Given the description of an element on the screen output the (x, y) to click on. 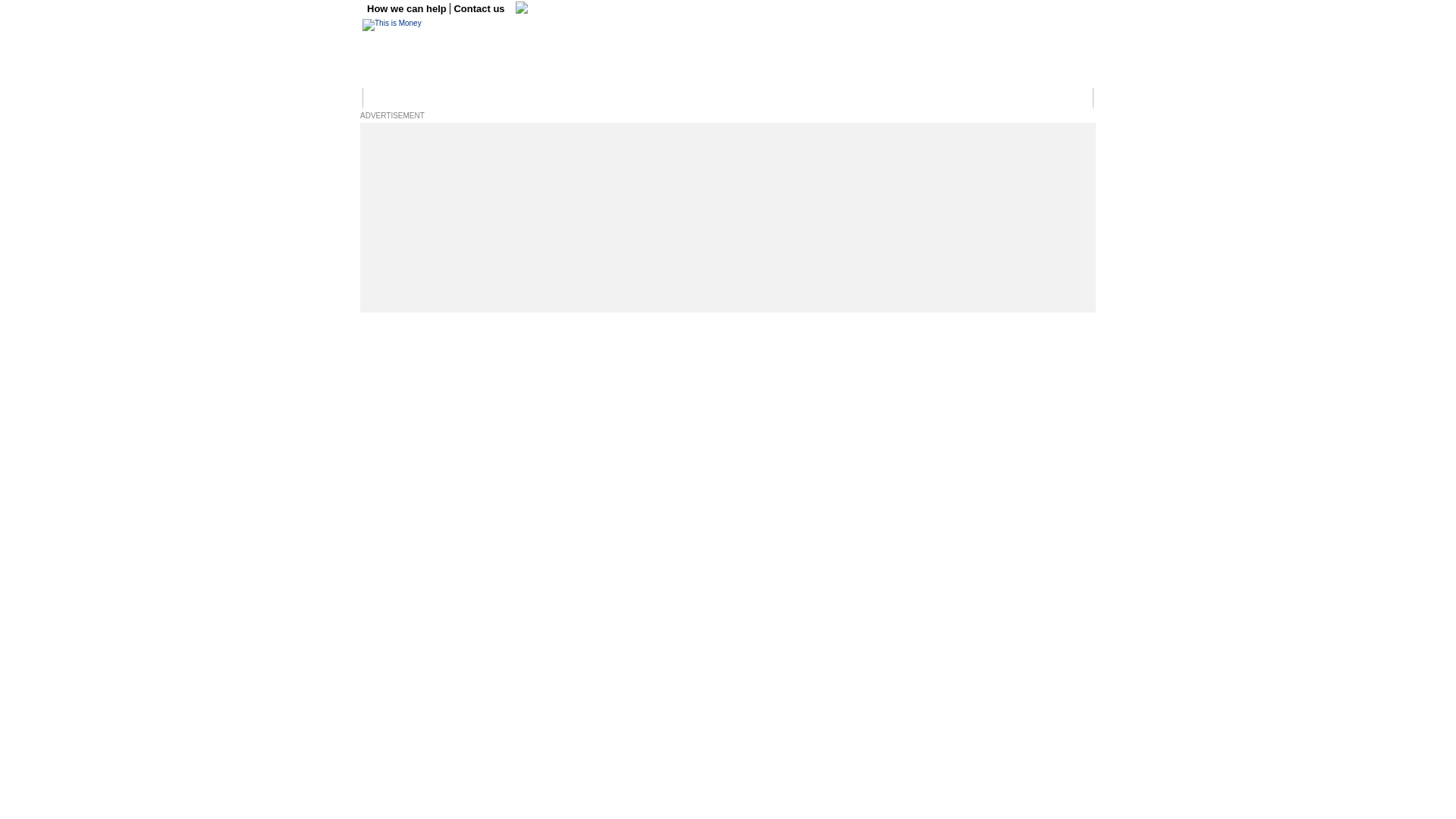
Business (450, 97)
How we can help (407, 8)
Contact us (479, 8)
Cars (714, 97)
Investing (582, 97)
Buy-to-let (925, 97)
Pensions (822, 97)
Money Home (395, 97)
Mortgages (873, 97)
Login (1075, 97)
